Given the description of an element on the screen output the (x, y) to click on. 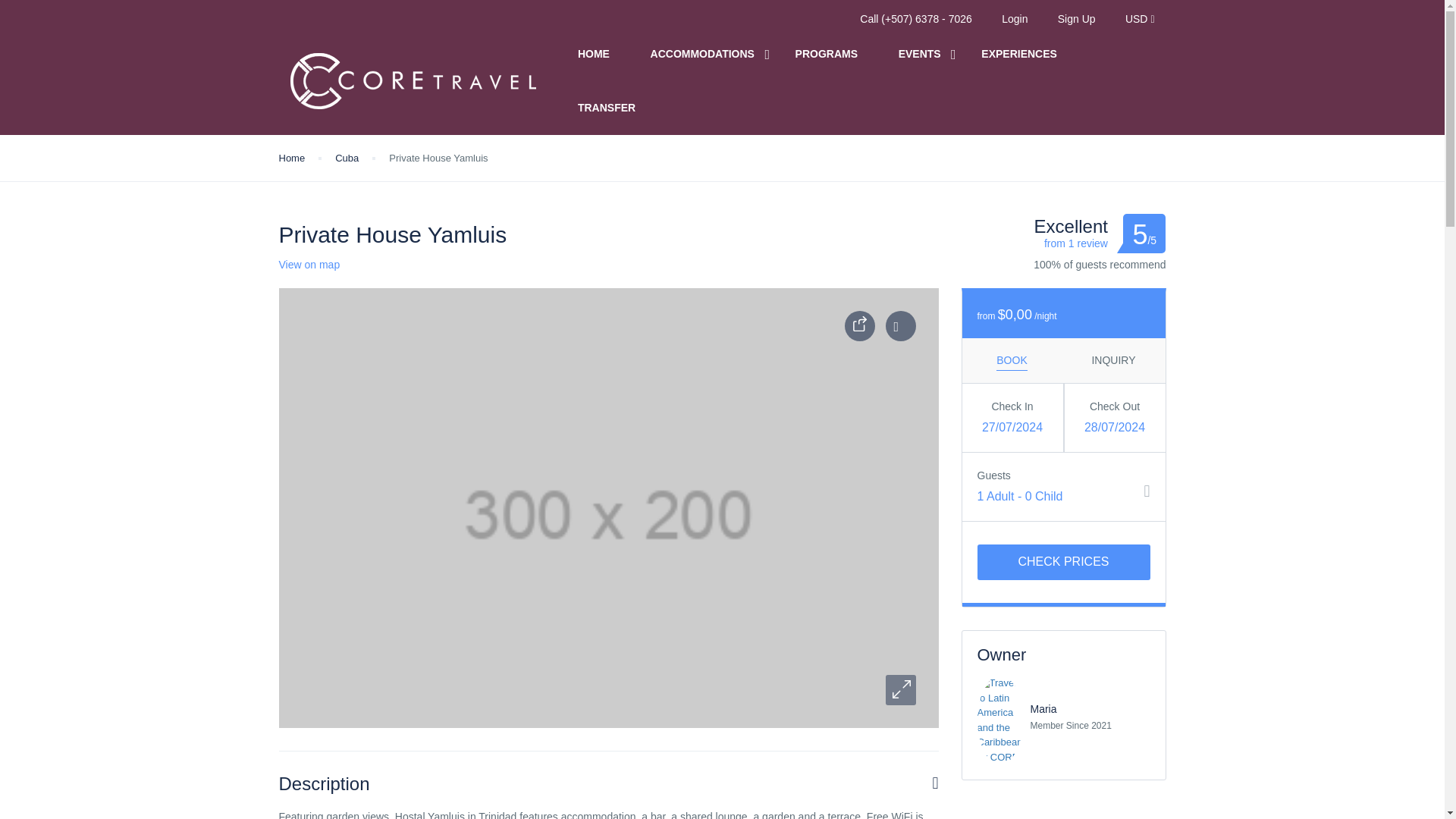
ACCOMMODATIONS (702, 53)
Created with Sketch. (859, 323)
Login (1014, 19)
Home (292, 157)
HOME (594, 53)
EVENTS (919, 53)
EXPERIENCES (1019, 53)
Cuba (346, 157)
TRANSFER (606, 107)
USD (1139, 19)
Sign Up (1077, 19)
View on map (309, 264)
Check Prices (1063, 561)
Created with Sketch. (859, 326)
PROGRAMS (825, 53)
